Given the description of an element on the screen output the (x, y) to click on. 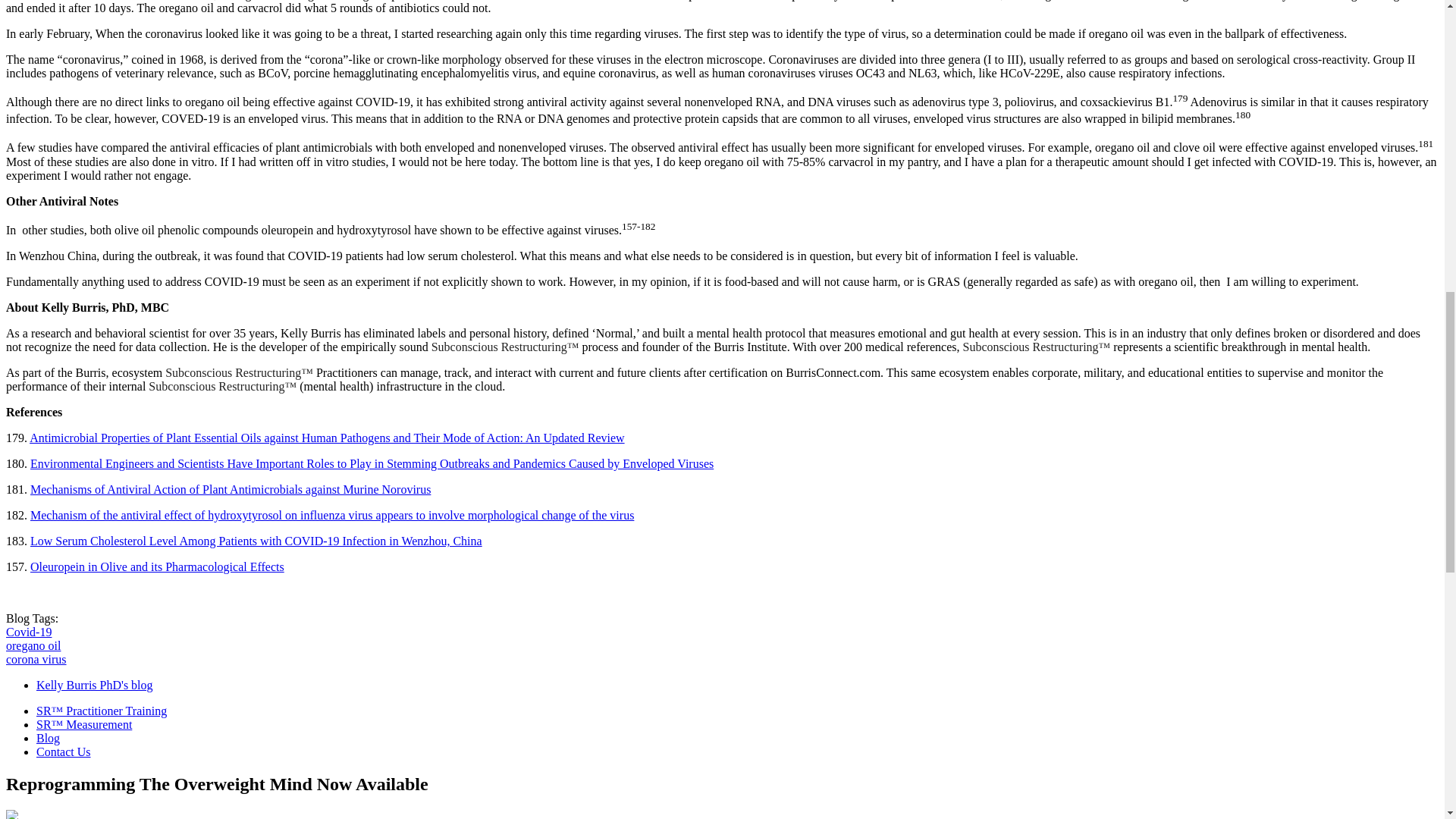
corona virus (35, 658)
Blog (47, 738)
Kelly Burris PhD's blog (94, 684)
Oleuropein in Olive and its Pharmacological Effects (156, 566)
Covid-19 (27, 631)
Contact Us (63, 751)
